Given the description of an element on the screen output the (x, y) to click on. 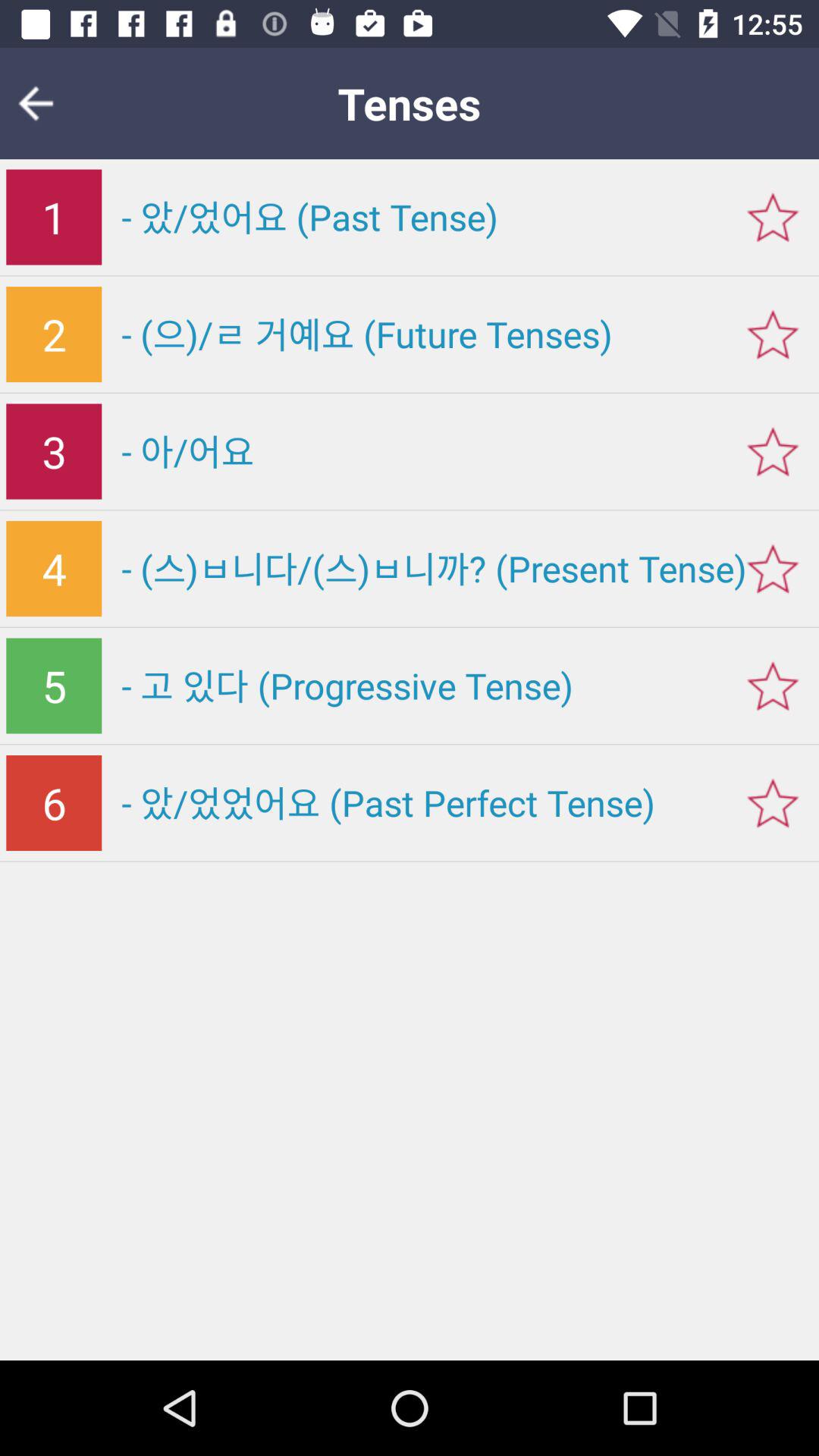
flip to the 6 (53, 802)
